Given the description of an element on the screen output the (x, y) to click on. 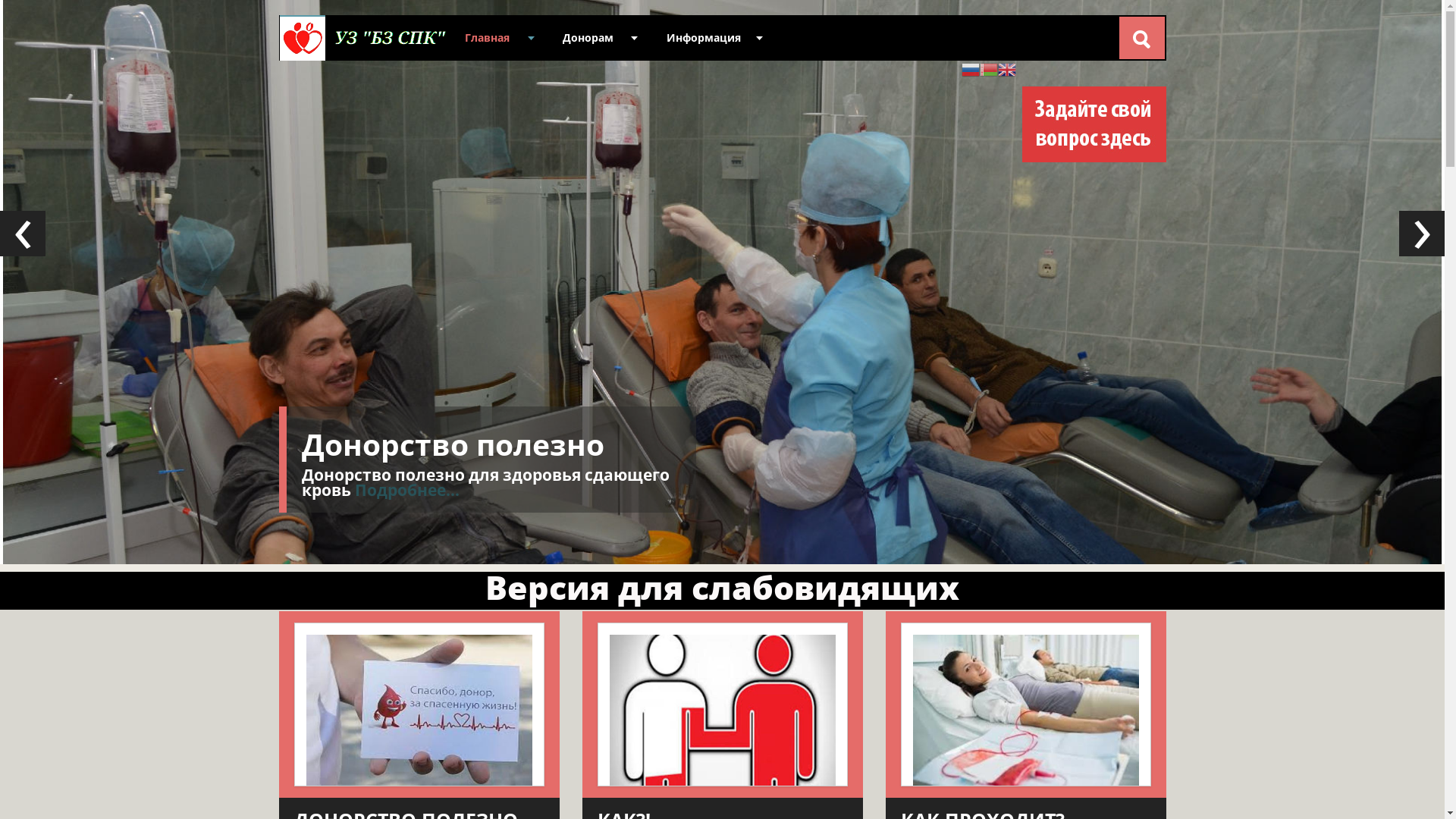
Belarusian Element type: hover (988, 68)
English Element type: hover (1006, 68)
Russian Element type: hover (970, 68)
